Given the description of an element on the screen output the (x, y) to click on. 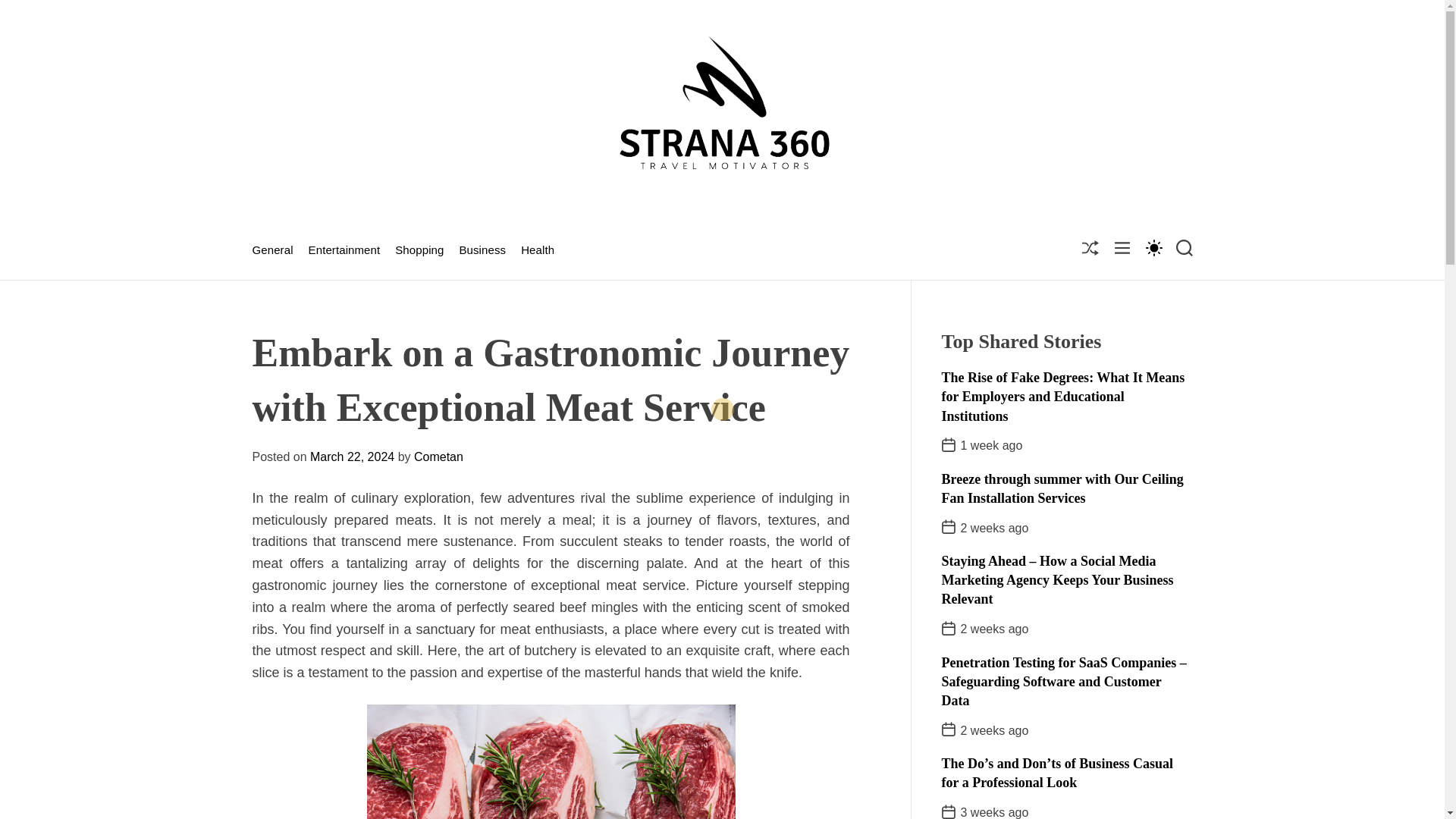
Cometan (438, 456)
Business (481, 249)
General (271, 249)
Health (537, 249)
Entertainment (344, 249)
Shopping (419, 249)
March 22, 2024 (352, 456)
SWITCH COLOR MODE (1152, 246)
